Given the description of an element on the screen output the (x, y) to click on. 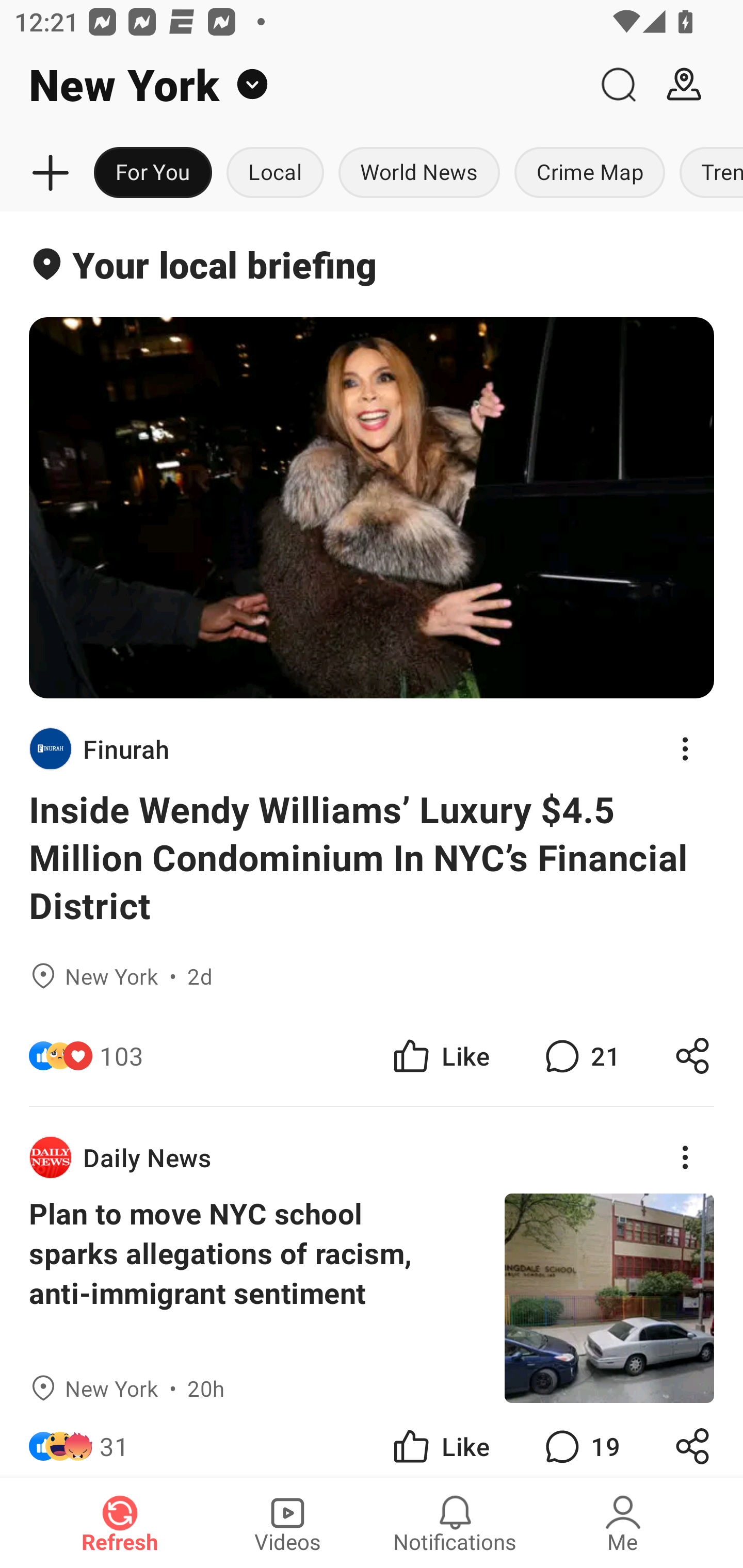
New York (292, 84)
For You (152, 172)
Local (275, 172)
World News (419, 172)
Crime Map (589, 172)
103 (121, 1055)
Like (439, 1055)
21 (579, 1055)
31 (114, 1440)
Like (439, 1440)
19 (579, 1440)
Videos (287, 1522)
Notifications (455, 1522)
Me (622, 1522)
